Given the description of an element on the screen output the (x, y) to click on. 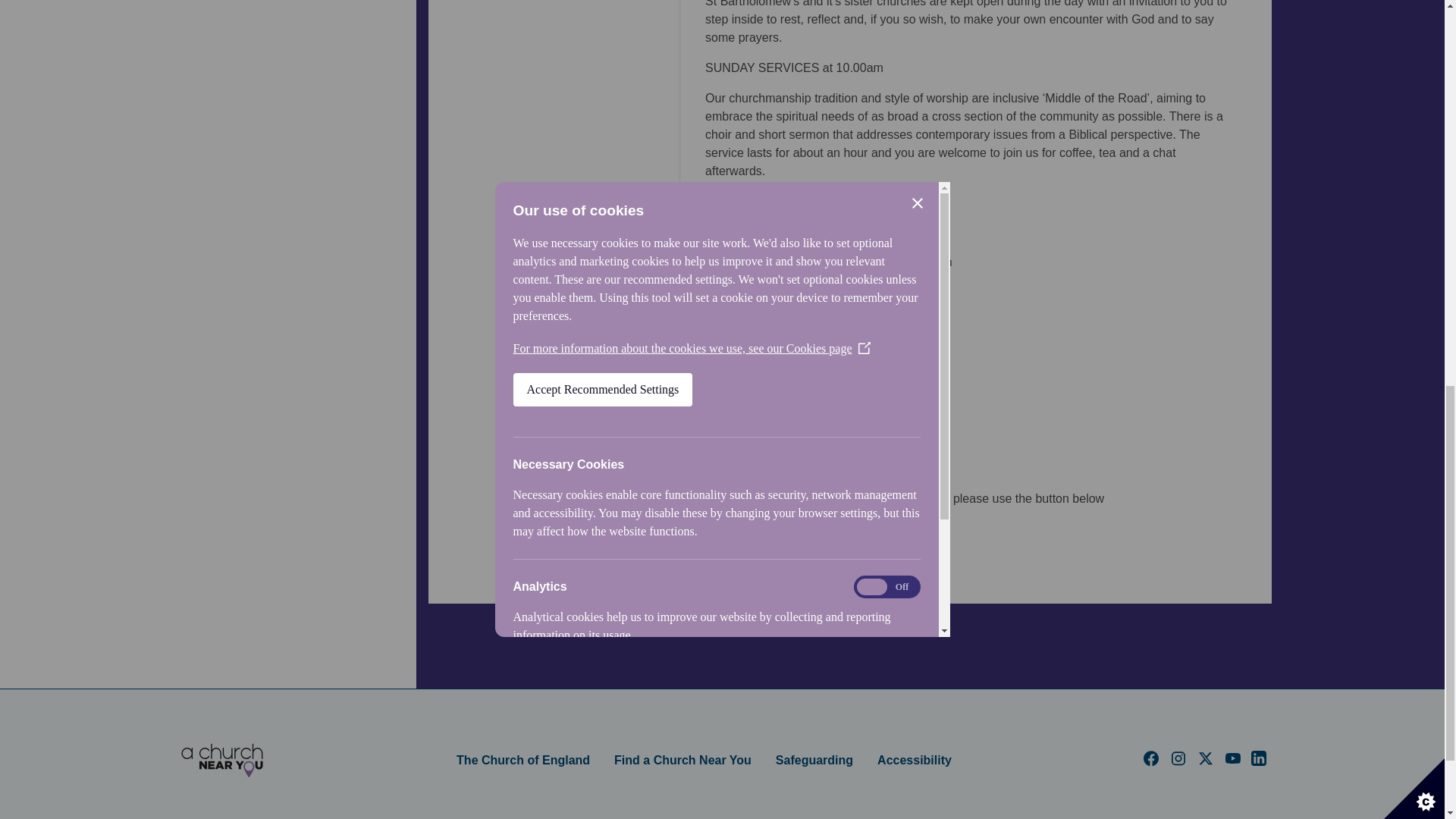
OPEN GOOGLE MAPS (777, 537)
ACNY home (221, 760)
